Given the description of an element on the screen output the (x, y) to click on. 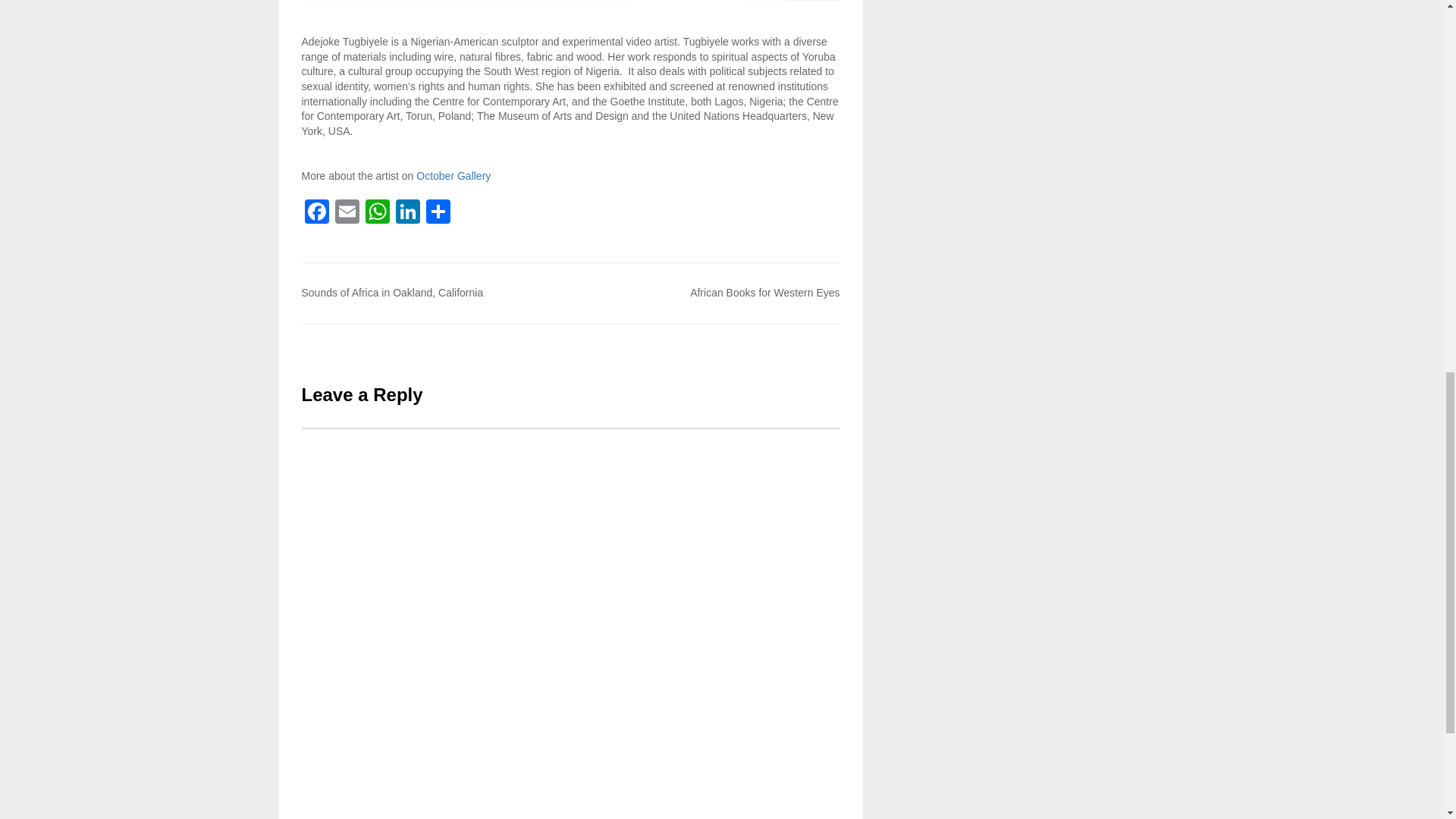
October Gallery (453, 175)
Email (346, 213)
Sounds of Africa in Oakland, California (392, 292)
Facebook (316, 213)
WhatsApp (377, 213)
Share (437, 213)
LinkedIn (408, 213)
